Given the description of an element on the screen output the (x, y) to click on. 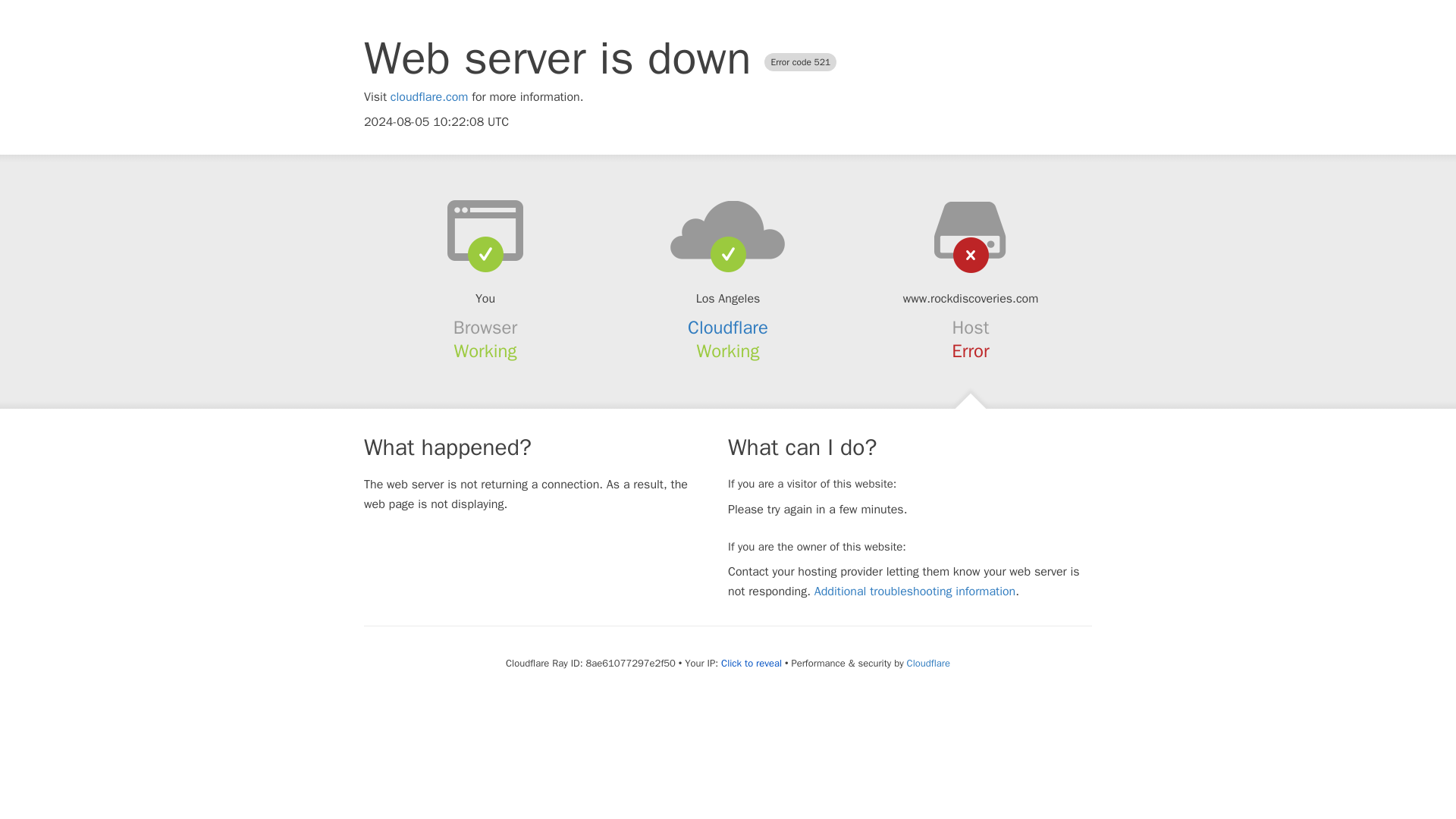
Cloudflare (727, 327)
Cloudflare (928, 662)
cloudflare.com (429, 96)
Additional troubleshooting information (913, 590)
Click to reveal (750, 663)
